Given the description of an element on the screen output the (x, y) to click on. 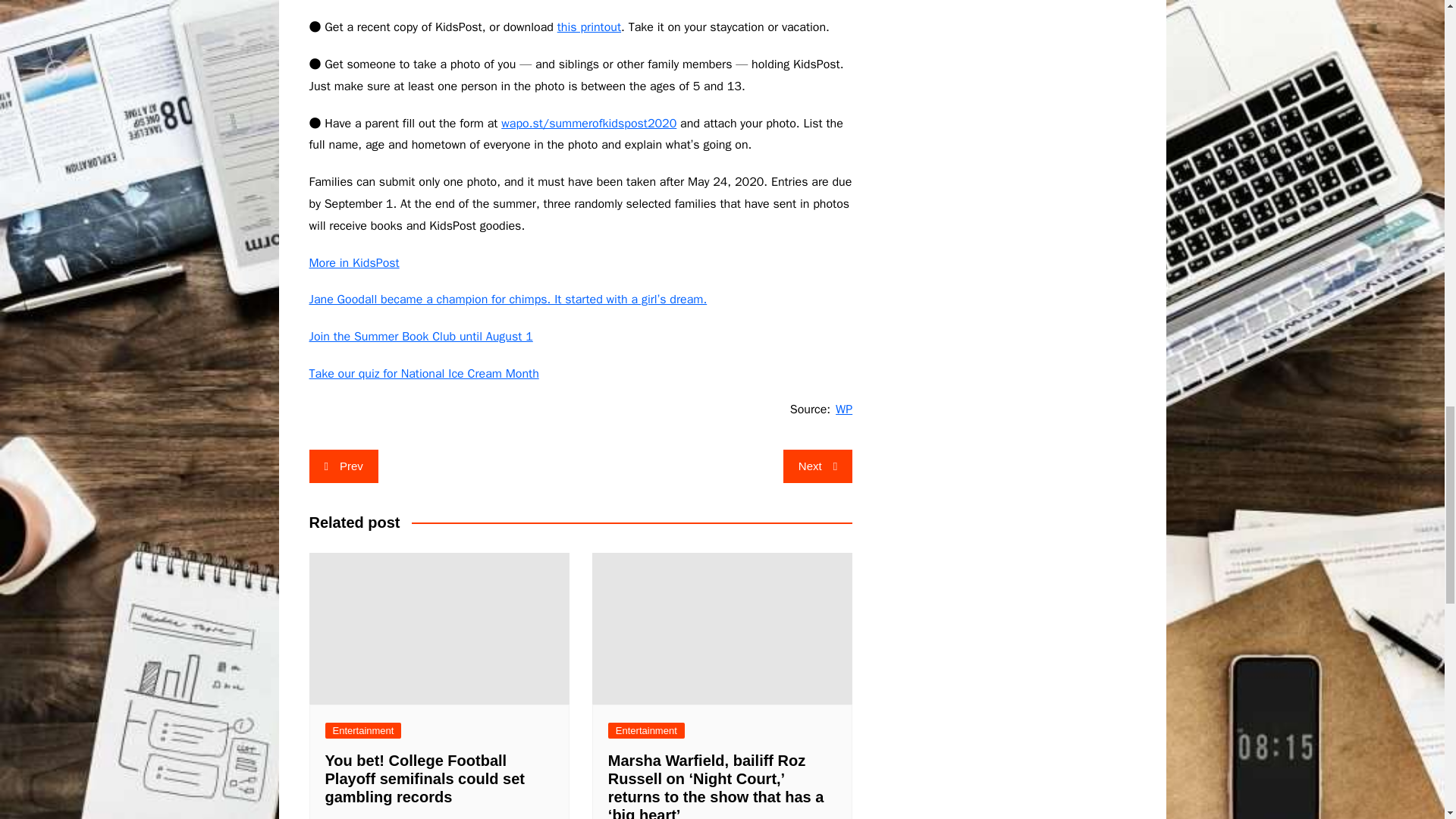
January 2, 2024 (366, 816)
Next (817, 466)
Prev (343, 466)
Take our quiz for National Ice Cream Month (423, 373)
this printout (589, 27)
Entertainment (362, 730)
More in KidsPost (353, 263)
www.washingtonpost.com (589, 27)
Join the Summer Book Club until August 1 (420, 336)
